Given the description of an element on the screen output the (x, y) to click on. 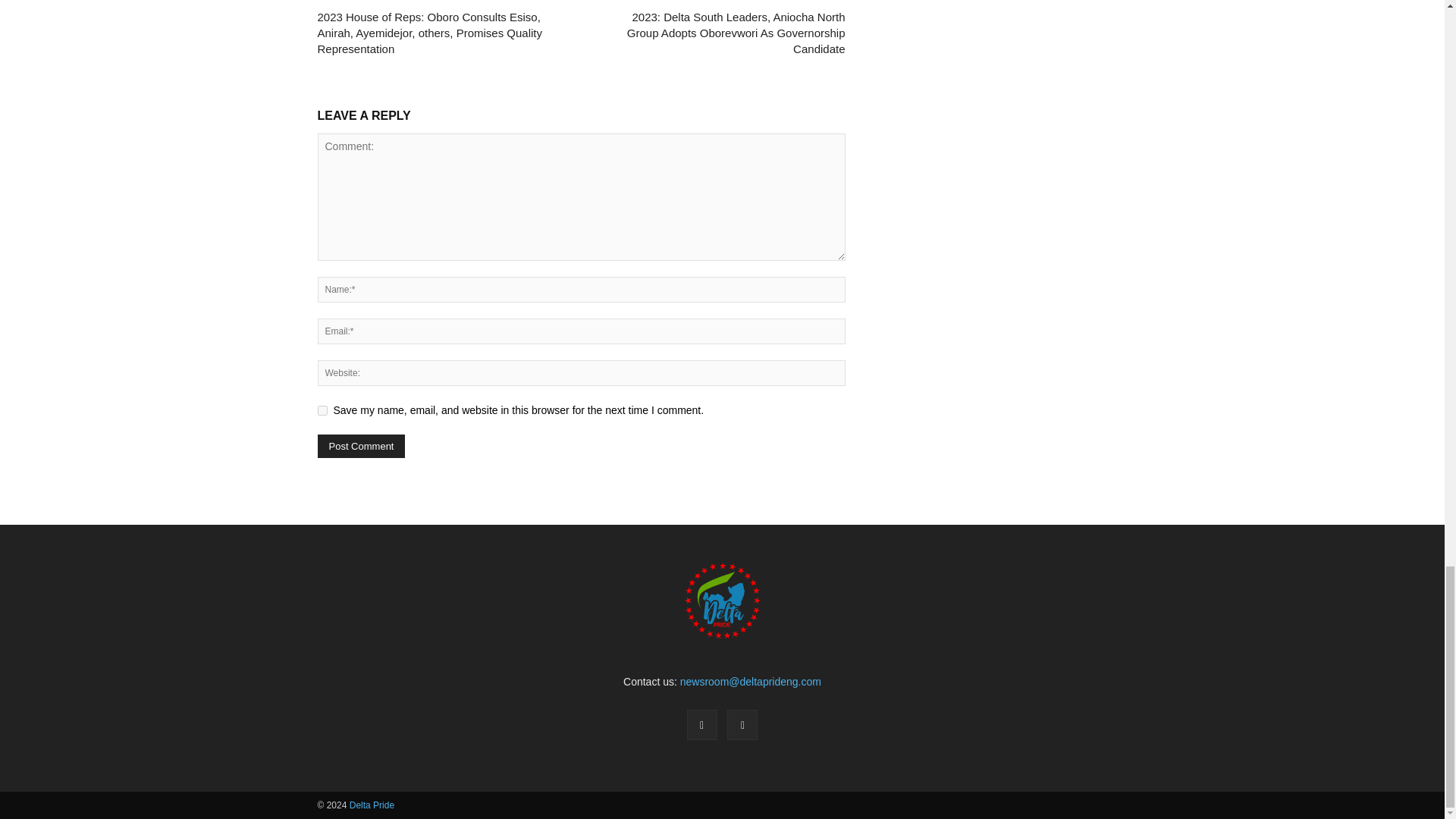
Post Comment (360, 445)
Facebook (702, 725)
yes (321, 410)
Twitter (741, 725)
Post Comment (360, 445)
